Given the description of an element on the screen output the (x, y) to click on. 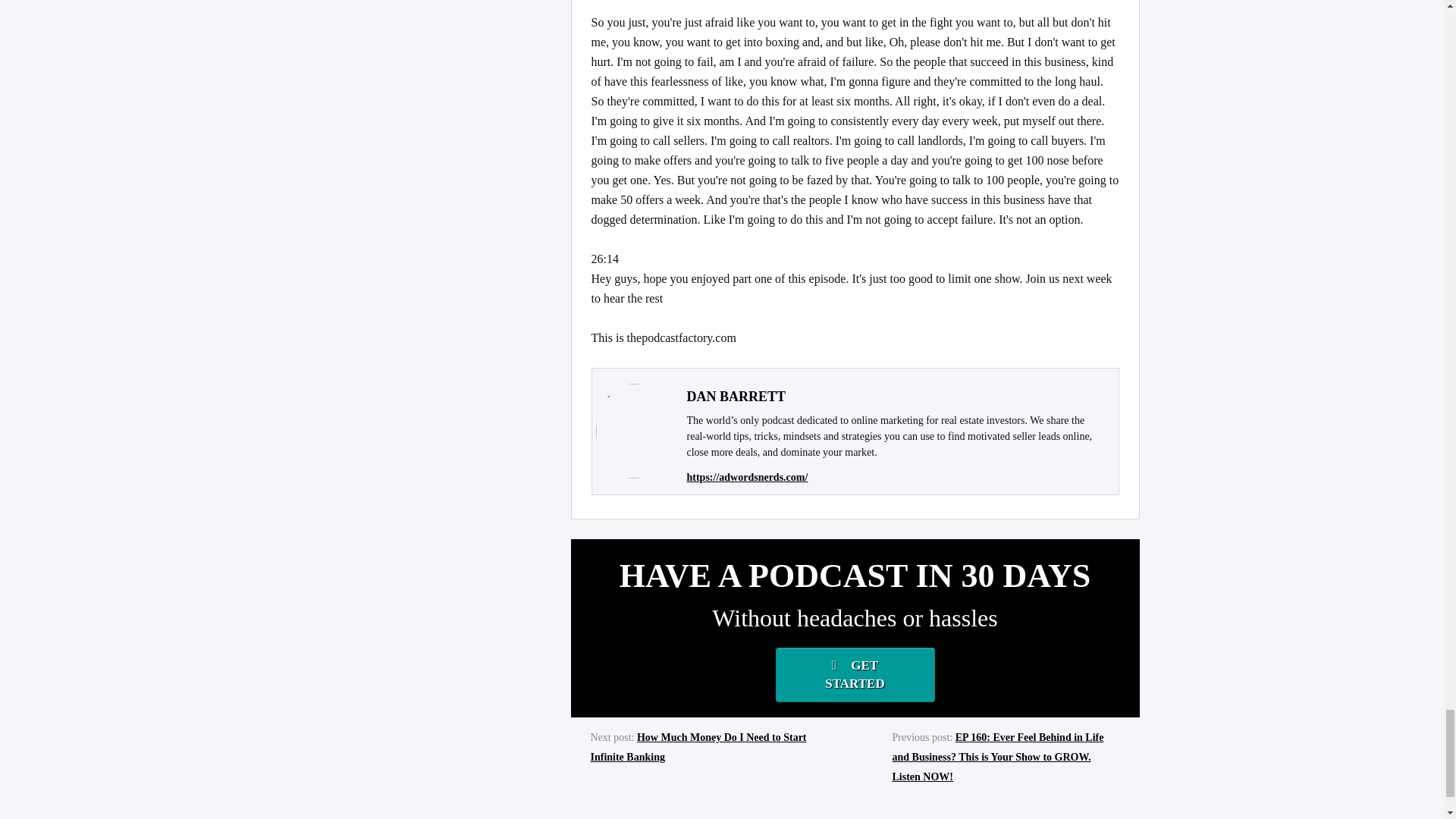
DAN BARRETT (736, 396)
GET STARTED (854, 674)
How Much Money Do I Need to Start Infinite Banking (697, 747)
